Given the description of an element on the screen output the (x, y) to click on. 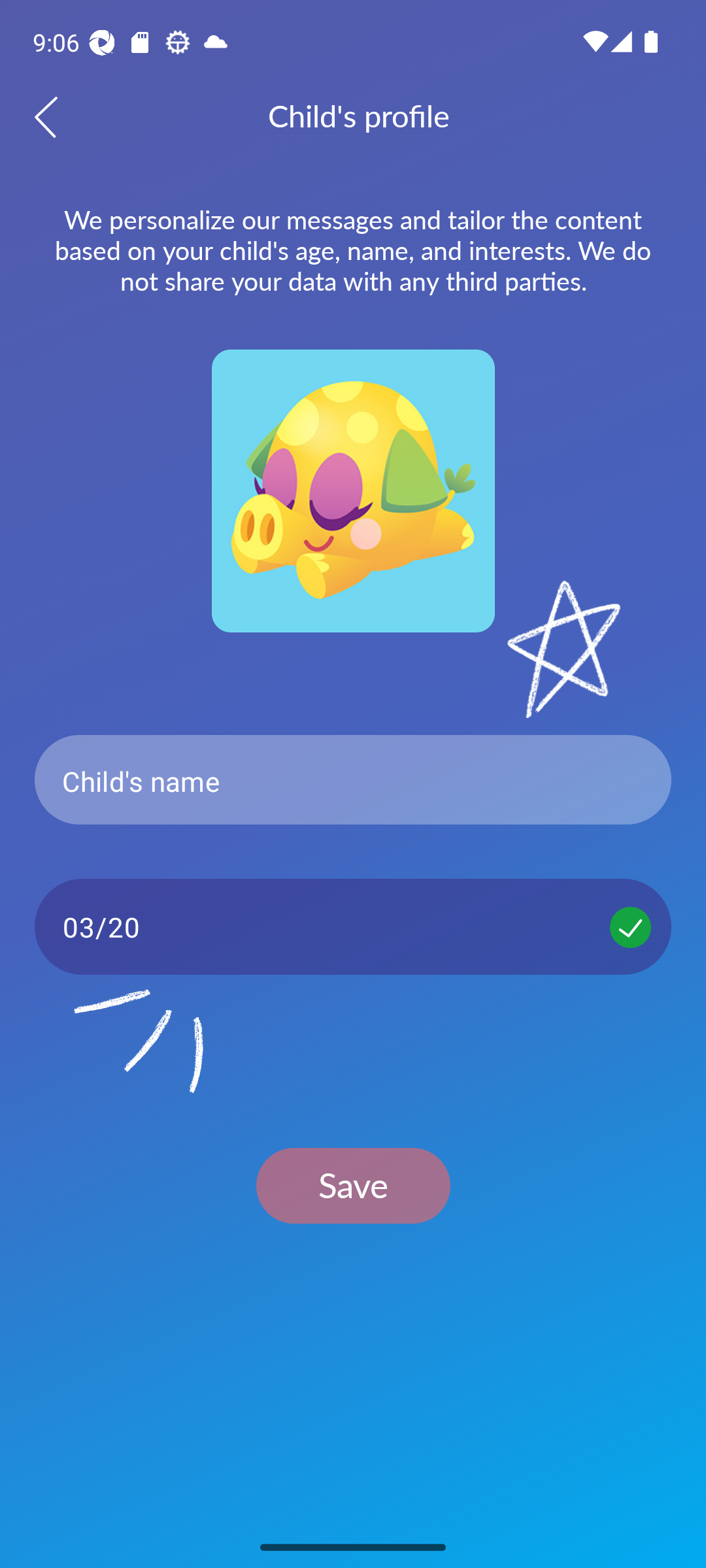
Child's name (352, 779)
03/20 (352, 926)
Save (353, 1185)
